Given the description of an element on the screen output the (x, y) to click on. 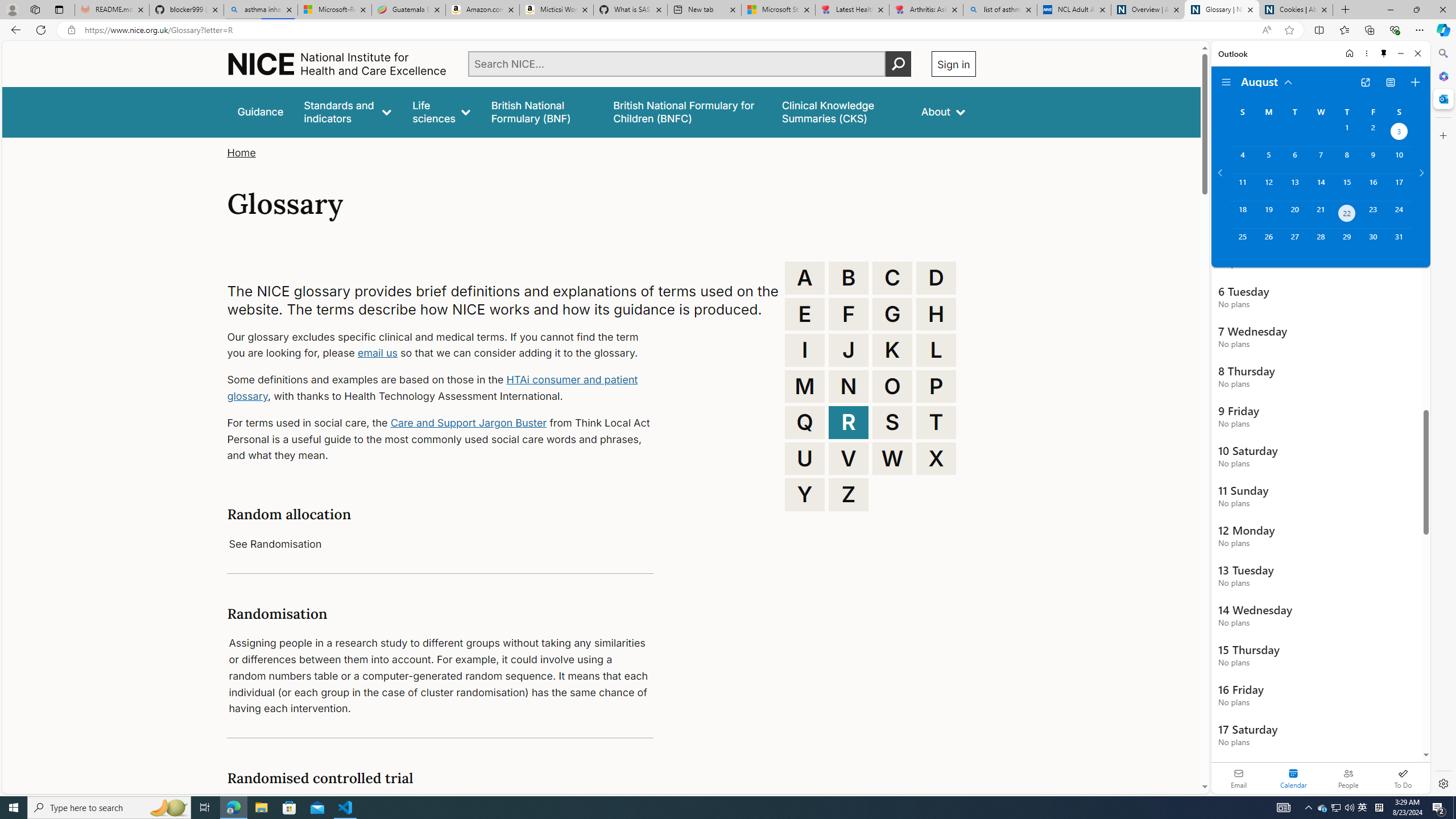
More options (1366, 53)
Glossary | NICE (1221, 9)
Create event (1414, 82)
Close Customize pane (1442, 135)
G (892, 313)
New Tab (1346, 9)
W (892, 458)
Microsoft 365 (1442, 76)
Tuesday, August 20, 2024.  (1294, 214)
E (804, 313)
Side bar (1443, 418)
Close tab (1324, 9)
R (848, 422)
F (848, 313)
